Given the description of an element on the screen output the (x, y) to click on. 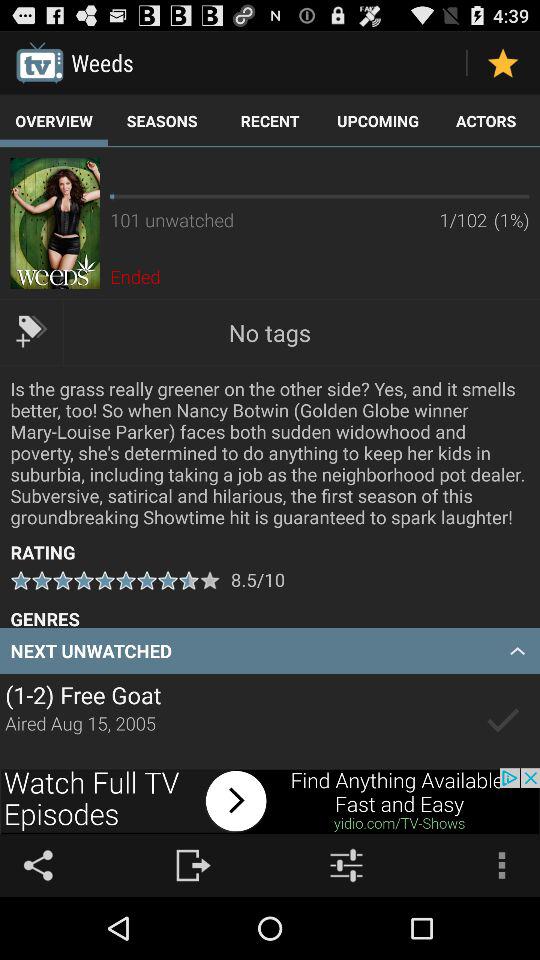
go to linked advertisement (270, 801)
